Given the description of an element on the screen output the (x, y) to click on. 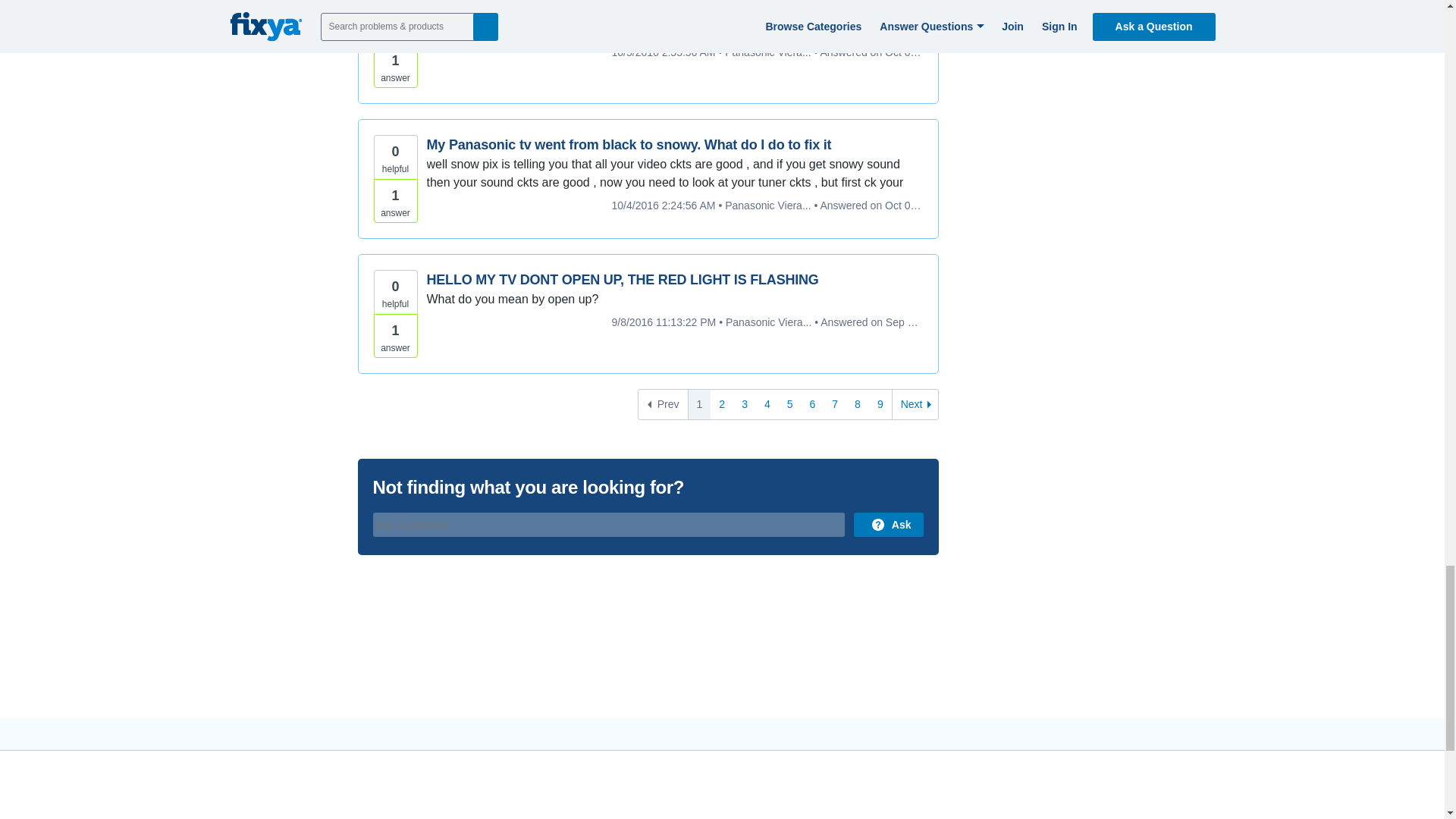
Ask (888, 524)
